Given the description of an element on the screen output the (x, y) to click on. 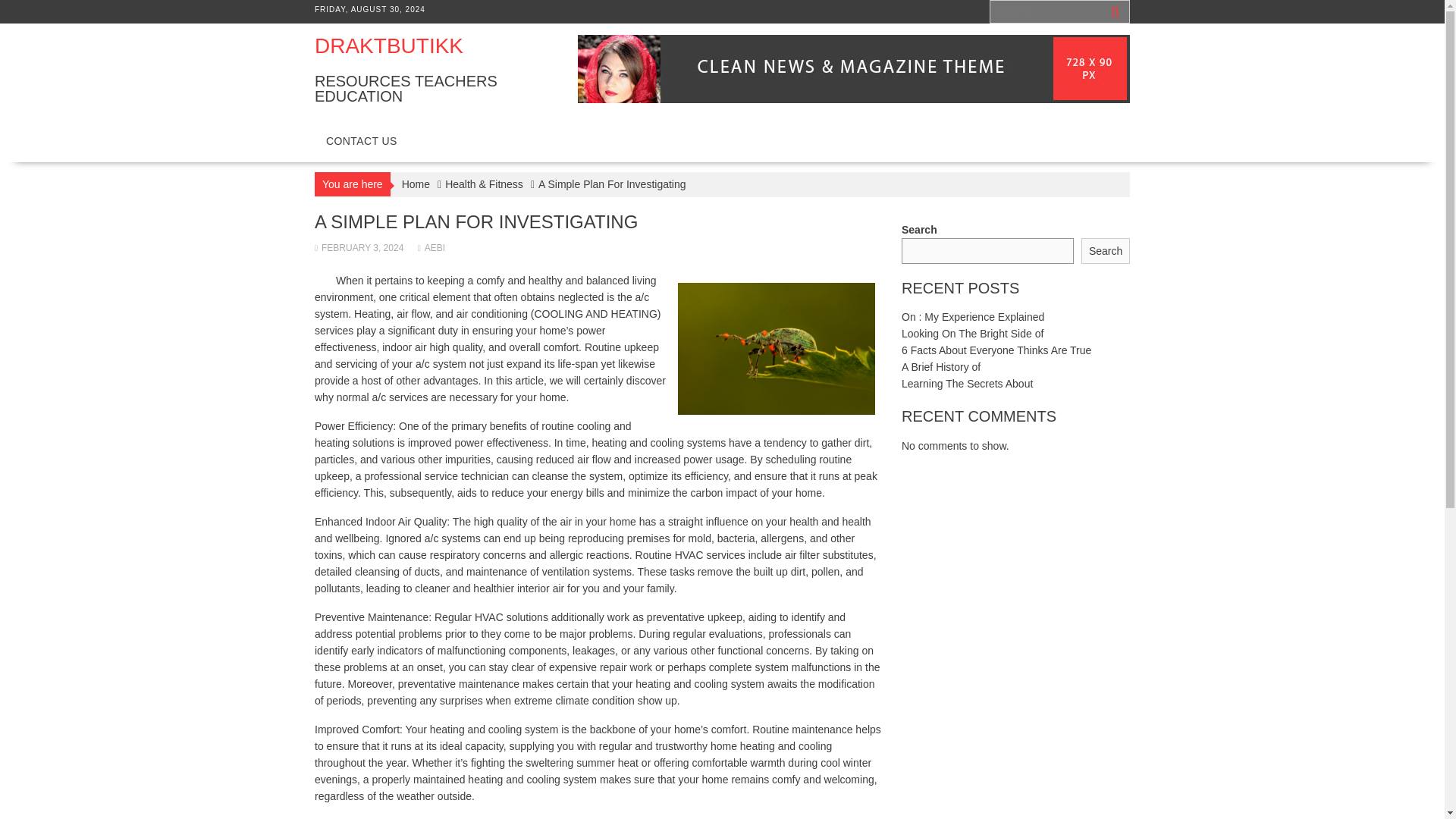
CONTACT US (361, 140)
On : My Experience Explained (972, 316)
Looking On The Bright Side of (972, 333)
AEBI (431, 247)
DRAKTBUTIKK (388, 45)
Search (1105, 251)
Learning The Secrets About (966, 383)
FEBRUARY 3, 2024 (358, 247)
A Brief History of (940, 367)
6 Facts About Everyone Thinks Are True (995, 349)
